Given the description of an element on the screen output the (x, y) to click on. 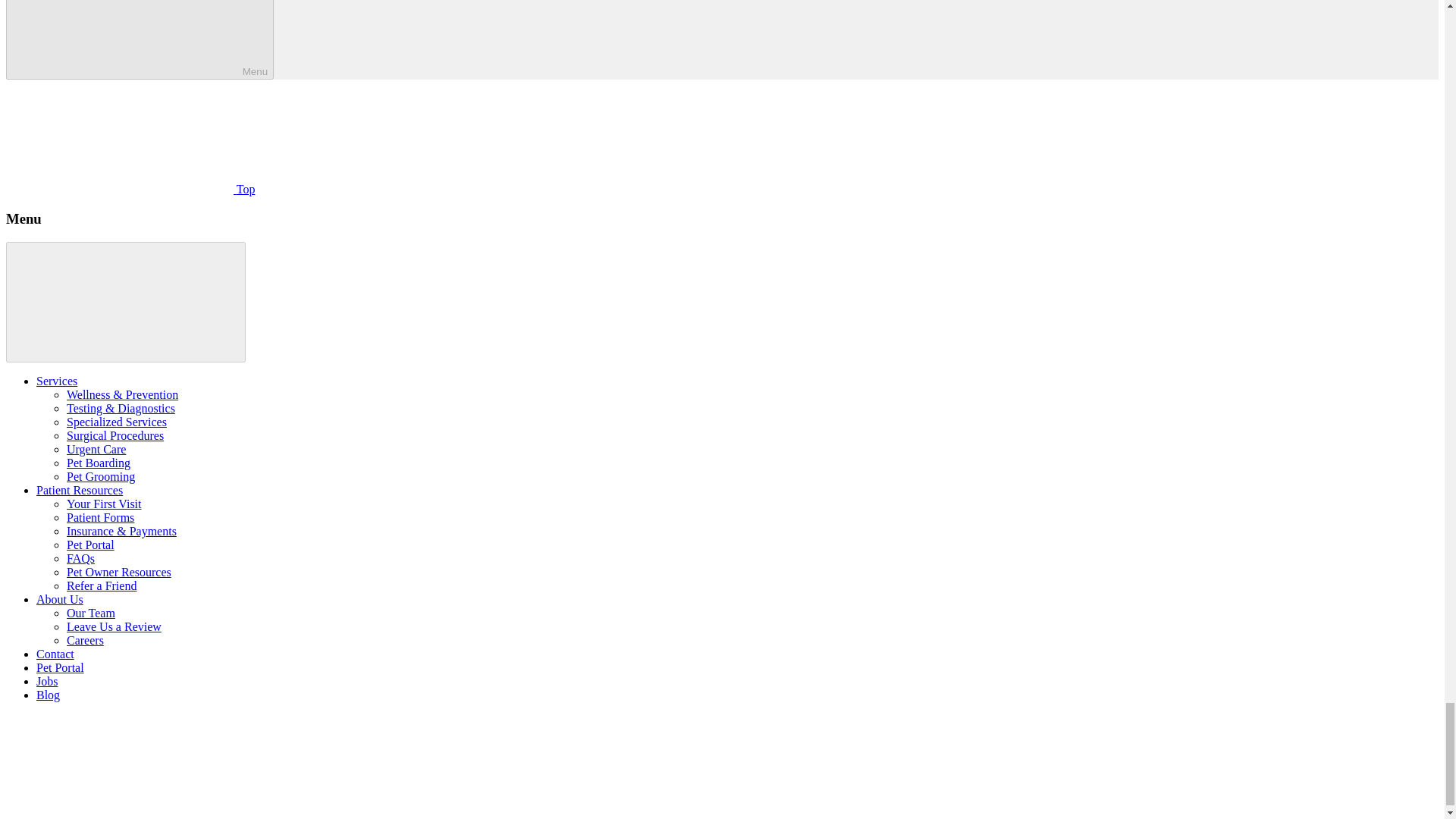
Top (129, 188)
